Given the description of an element on the screen output the (x, y) to click on. 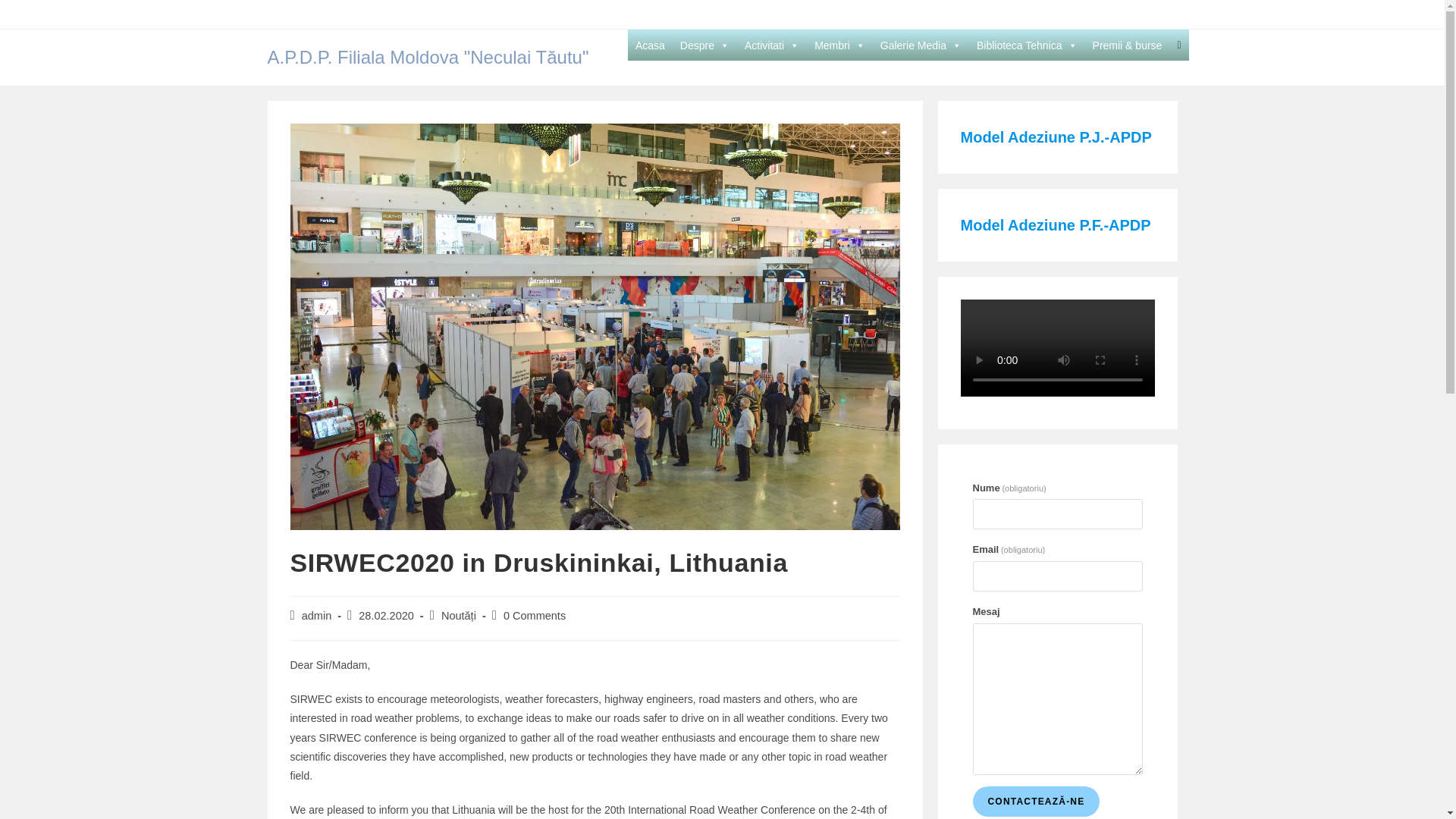
admin (316, 615)
Galerie Media (920, 45)
Membri (839, 45)
Toggle website search (1178, 44)
Acasa (649, 45)
0 Comments (534, 615)
Articole de admin (316, 615)
Biblioteca Tehnica (1026, 45)
Activitati (771, 45)
Despre (704, 45)
